Given the description of an element on the screen output the (x, y) to click on. 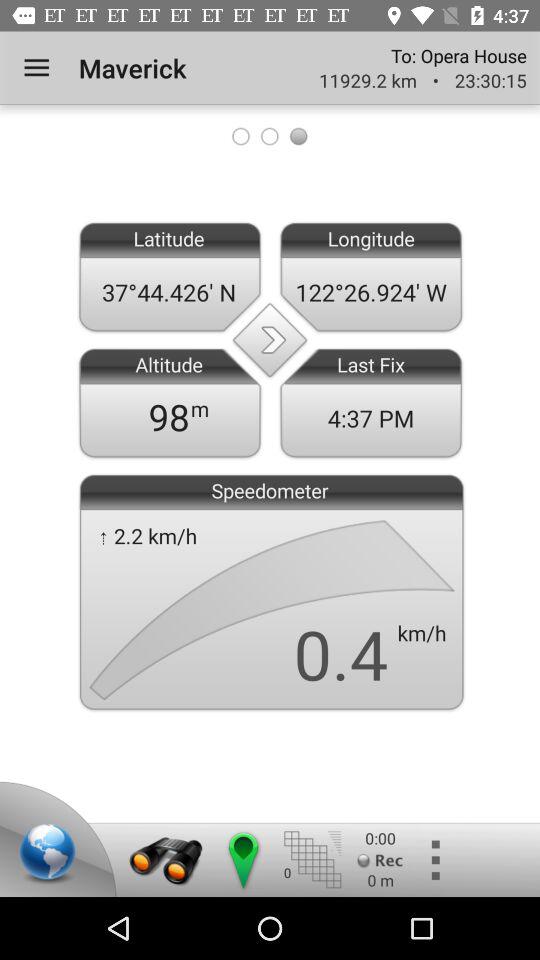
meshing option (312, 860)
